Given the description of an element on the screen output the (x, y) to click on. 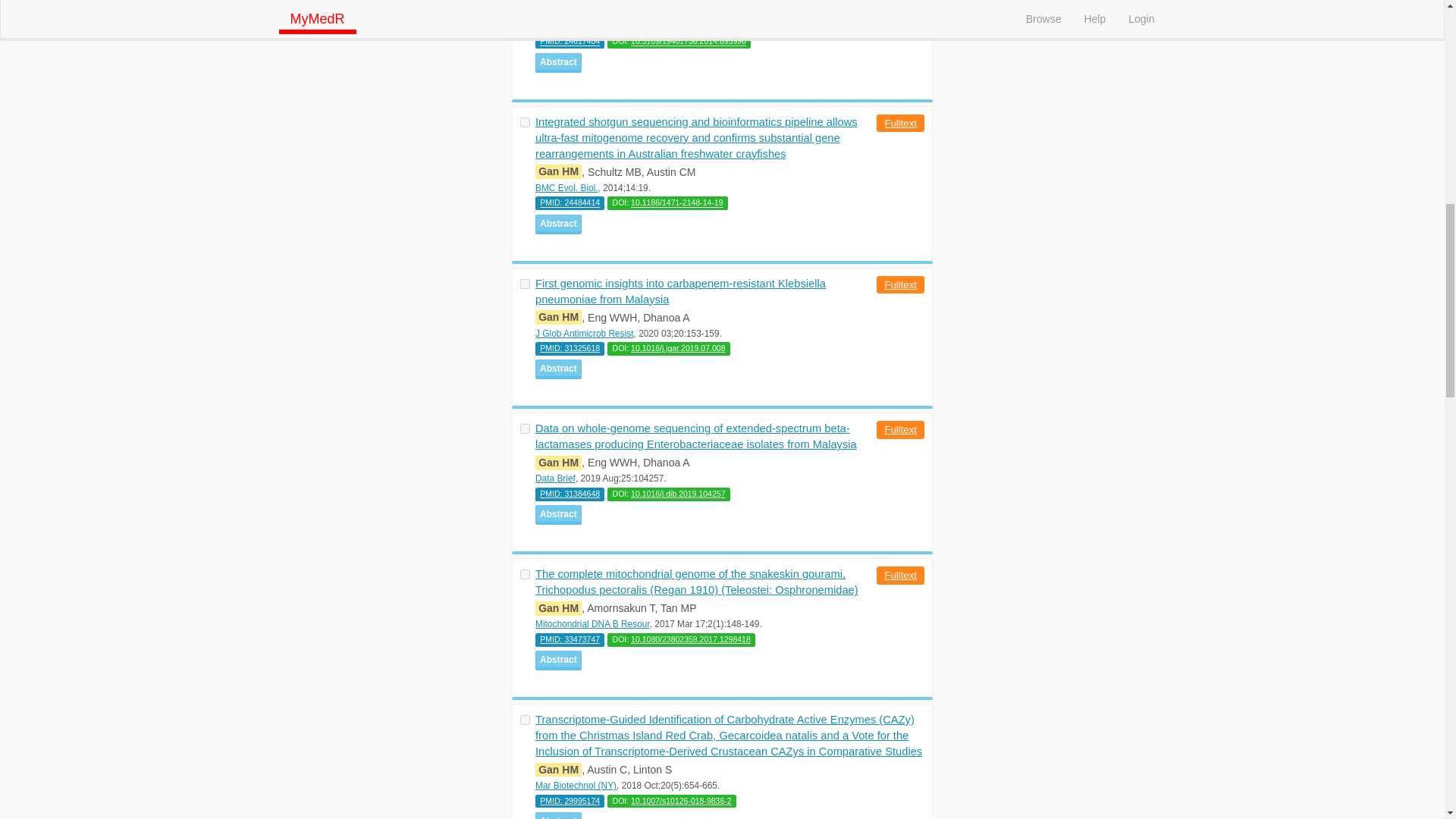
on (524, 284)
on (524, 574)
on (524, 719)
on (524, 429)
on (524, 122)
